Given the description of an element on the screen output the (x, y) to click on. 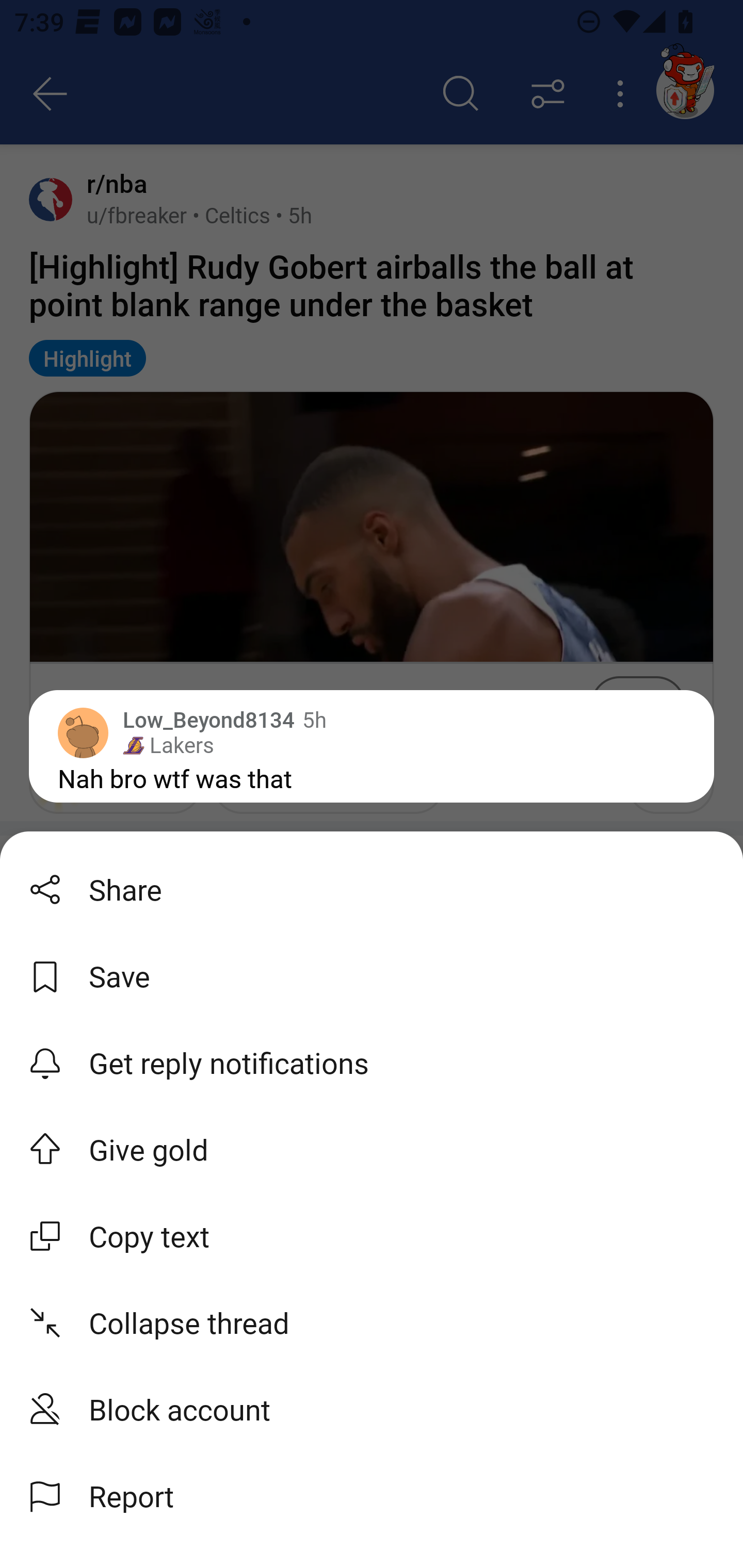
Share (371, 888)
Avatar (53, 874)
Save (371, 975)
Avatar (53, 972)
Get reply notifications (371, 1062)
Give gold (371, 1149)
Copy text (371, 1236)
Collapse thread (371, 1322)
Block account (371, 1408)
Report (371, 1495)
